Given the description of an element on the screen output the (x, y) to click on. 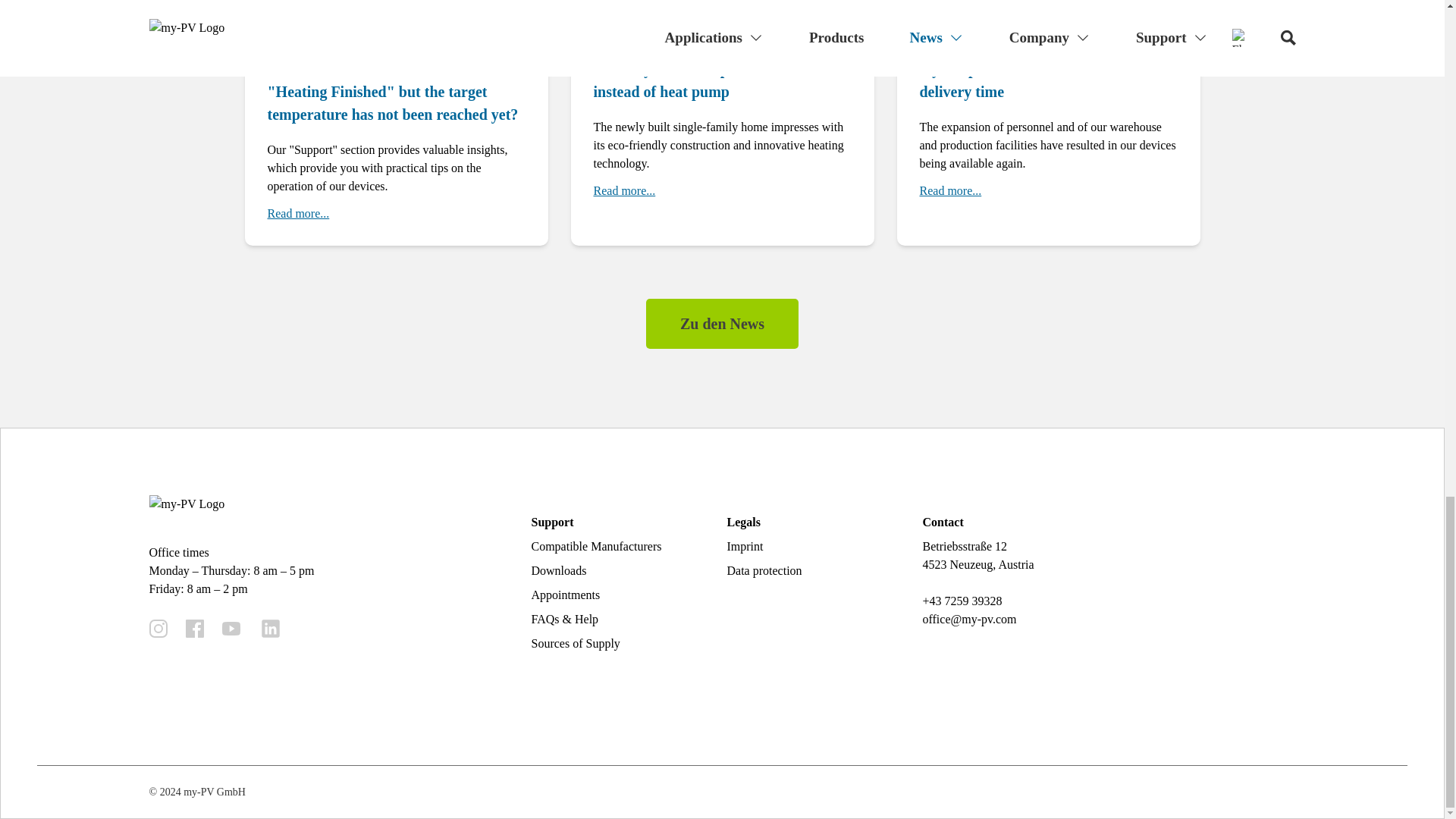
Read more... (623, 190)
Compatible Manufacturers (596, 545)
Read more... (949, 190)
Appointments (565, 594)
Zu den News (721, 323)
Imprint (744, 545)
Sources of Supply (575, 643)
Read more... (297, 213)
Downloads (558, 570)
Data protection (764, 570)
